Given the description of an element on the screen output the (x, y) to click on. 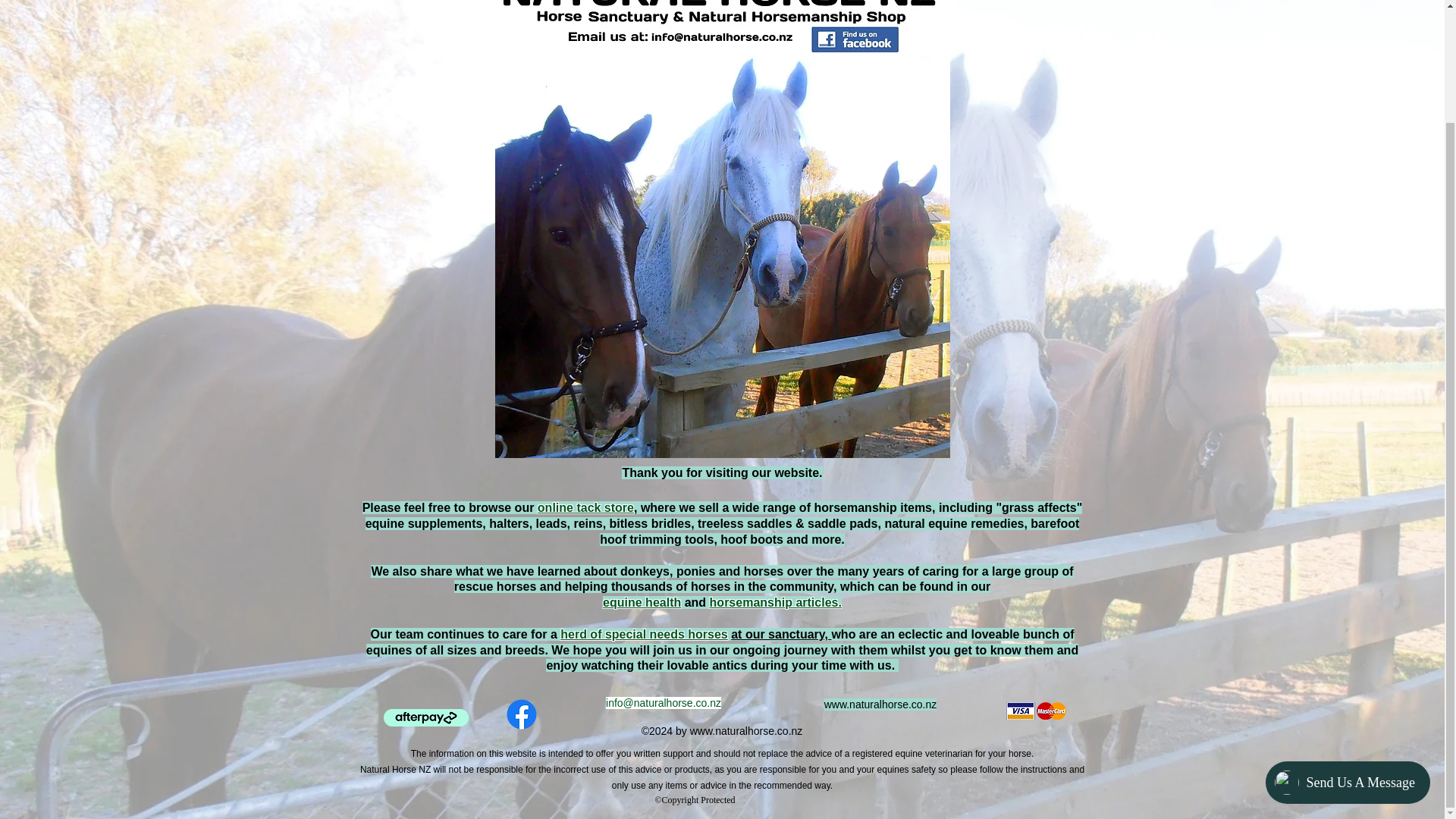
Use afterpay to buy horse tack  (426, 716)
Use visa to pay for horse tack  (1035, 710)
